Given the description of an element on the screen output the (x, y) to click on. 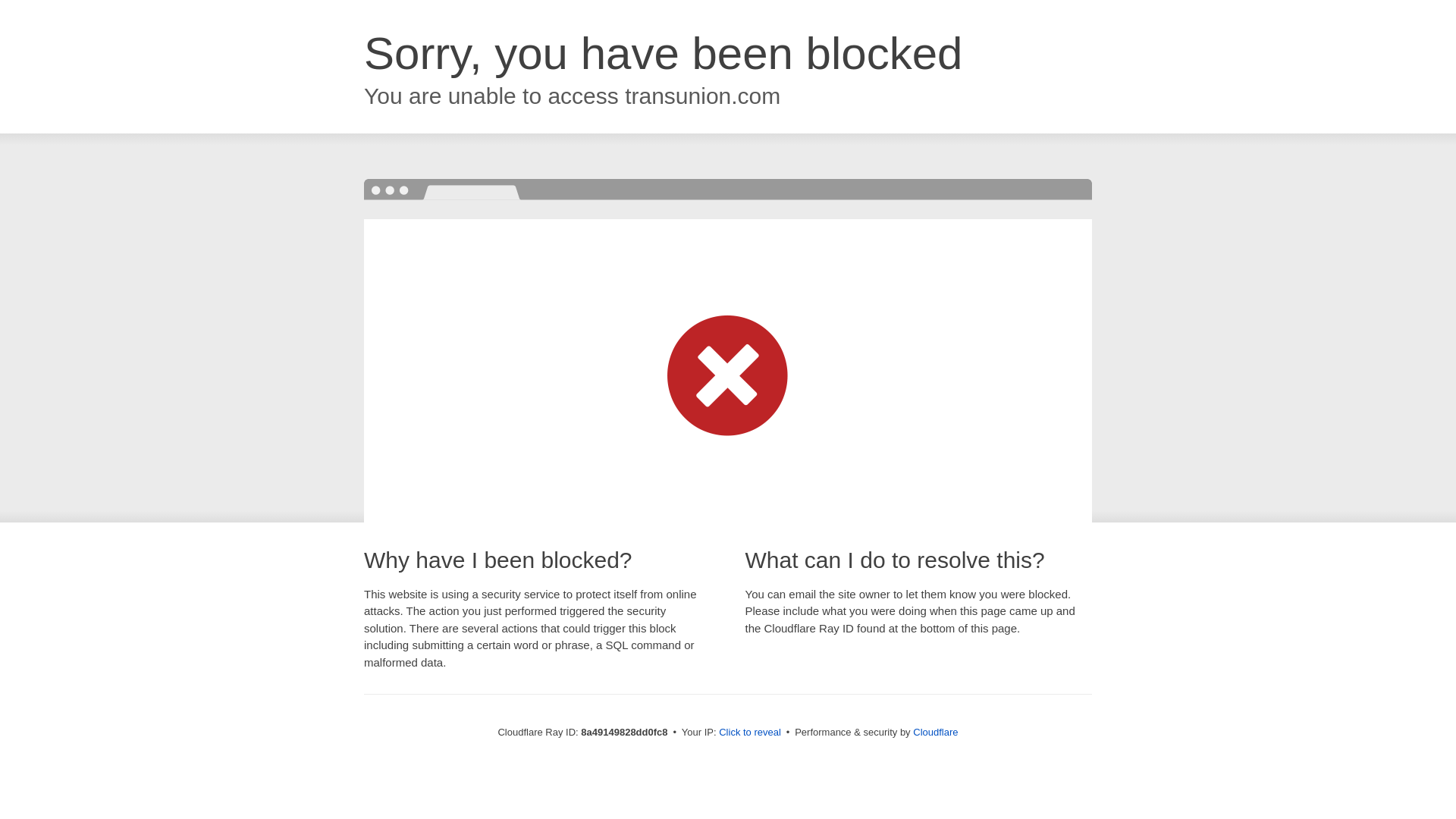
Click to reveal (749, 732)
Cloudflare (935, 731)
